Given the description of an element on the screen output the (x, y) to click on. 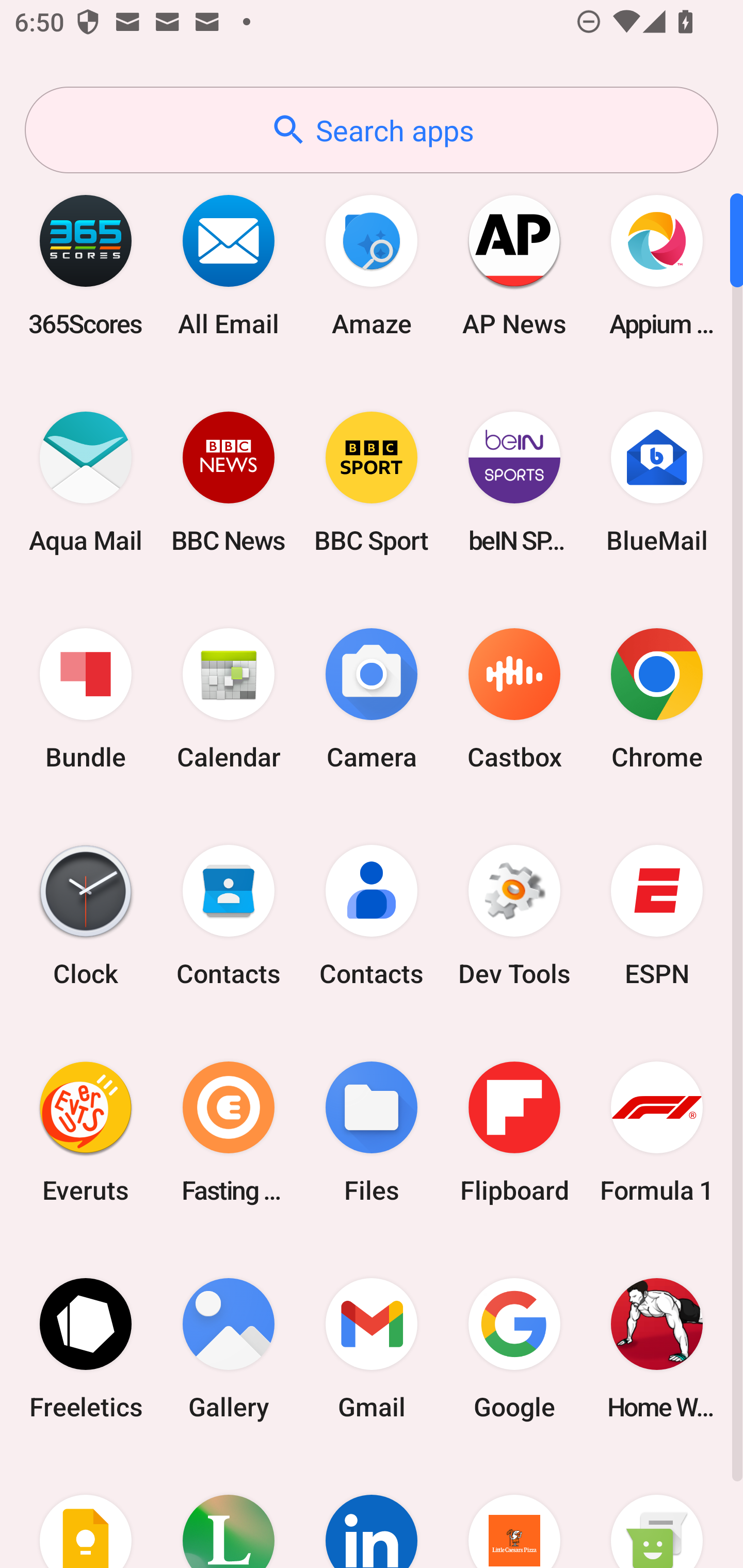
  Search apps (371, 130)
365Scores (85, 264)
All Email (228, 264)
Amaze (371, 264)
AP News (514, 264)
Appium Settings (656, 264)
Aqua Mail (85, 482)
BBC News (228, 482)
BBC Sport (371, 482)
beIN SPORTS (514, 482)
BlueMail (656, 482)
Bundle (85, 699)
Calendar (228, 699)
Camera (371, 699)
Castbox (514, 699)
Chrome (656, 699)
Clock (85, 915)
Contacts (228, 915)
Contacts (371, 915)
Dev Tools (514, 915)
ESPN (656, 915)
Everuts (85, 1131)
Fasting Coach (228, 1131)
Files (371, 1131)
Flipboard (514, 1131)
Formula 1 (656, 1131)
Freeletics (85, 1348)
Gallery (228, 1348)
Gmail (371, 1348)
Google (514, 1348)
Home Workout (656, 1348)
